Given the description of an element on the screen output the (x, y) to click on. 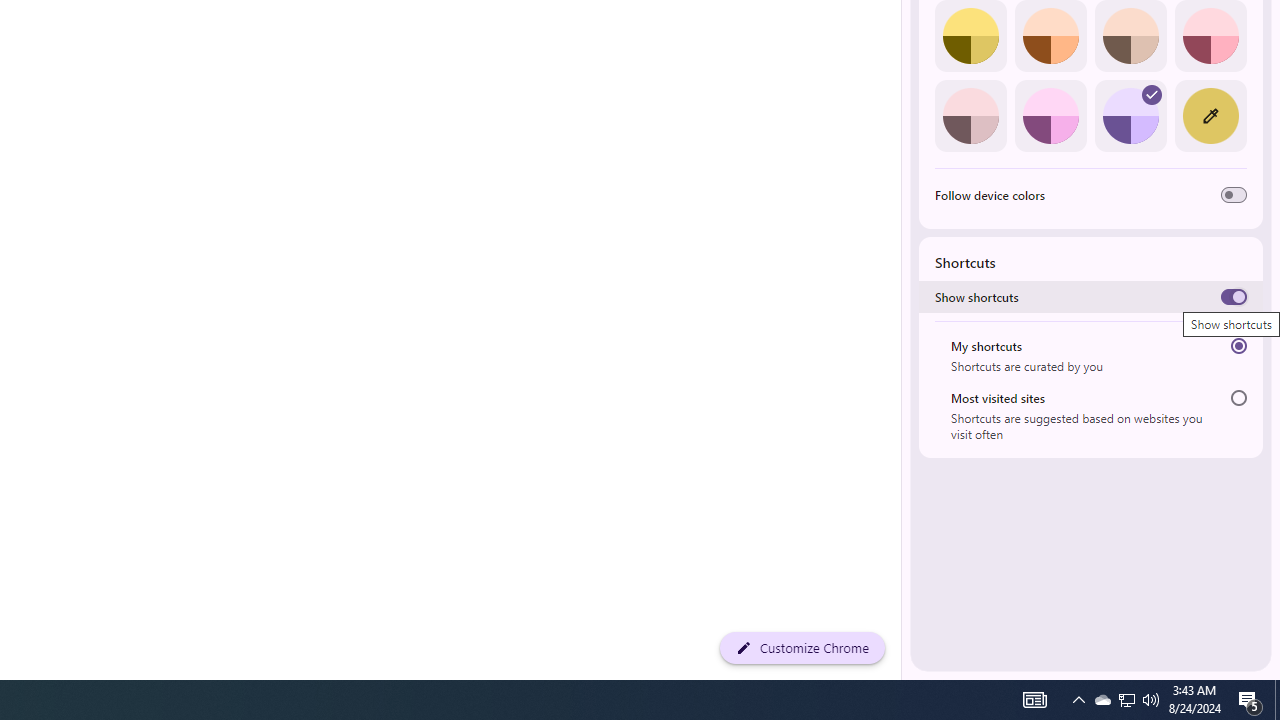
Violet (1130, 115)
Citron (970, 36)
Customize Chrome (801, 647)
My shortcuts (1238, 345)
Orange (1050, 36)
Most visited sites (1238, 398)
Fuchsia (1050, 115)
Follow device colors (1233, 195)
Show shortcuts (1233, 296)
Pink (970, 115)
Rose (1210, 36)
Apricot (1130, 36)
AutomationID: svg (1151, 94)
Custom color (1210, 115)
